Given the description of an element on the screen output the (x, y) to click on. 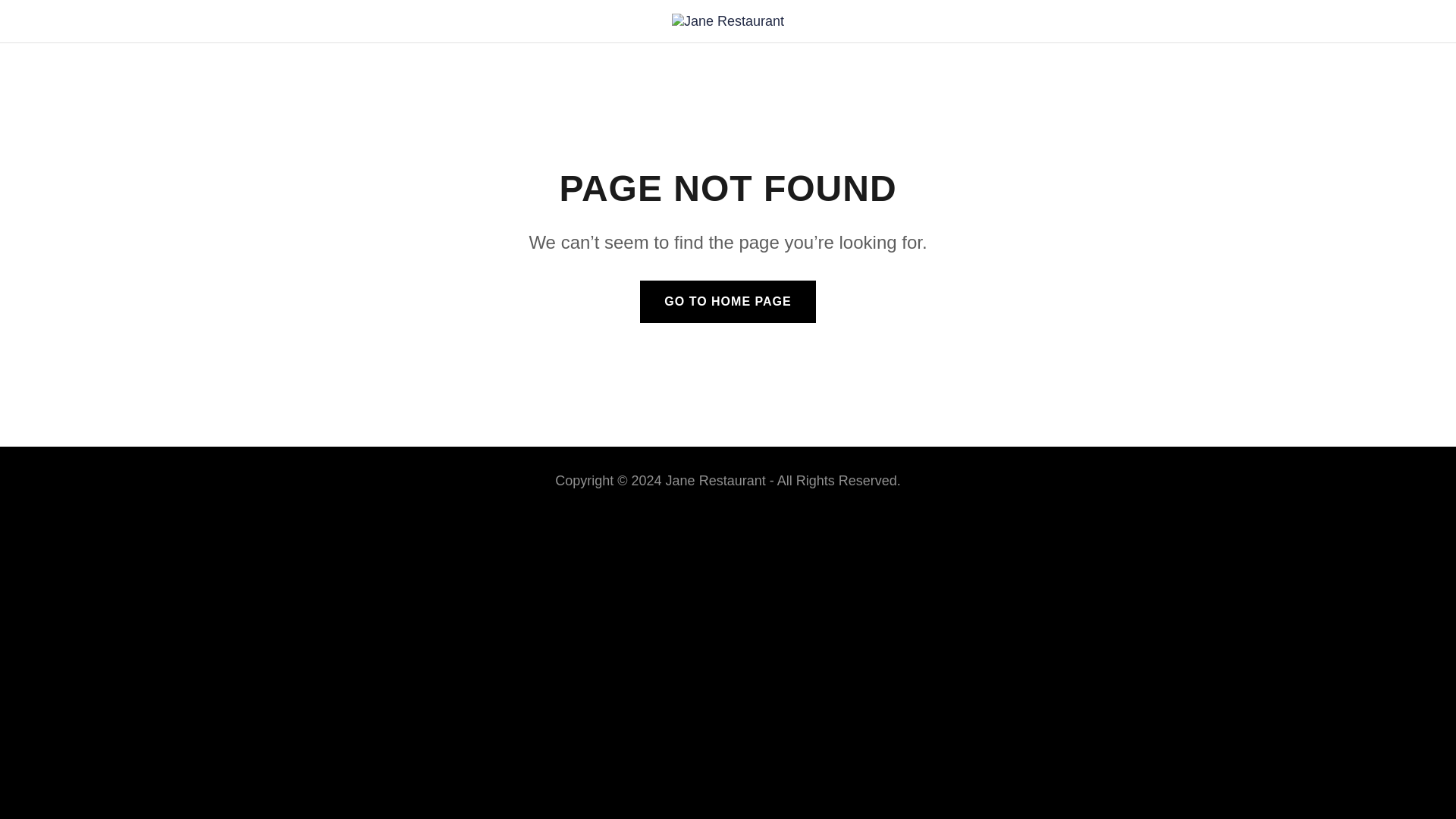
GO TO HOME PAGE (727, 301)
Jane Restaurant (727, 20)
